Given the description of an element on the screen output the (x, y) to click on. 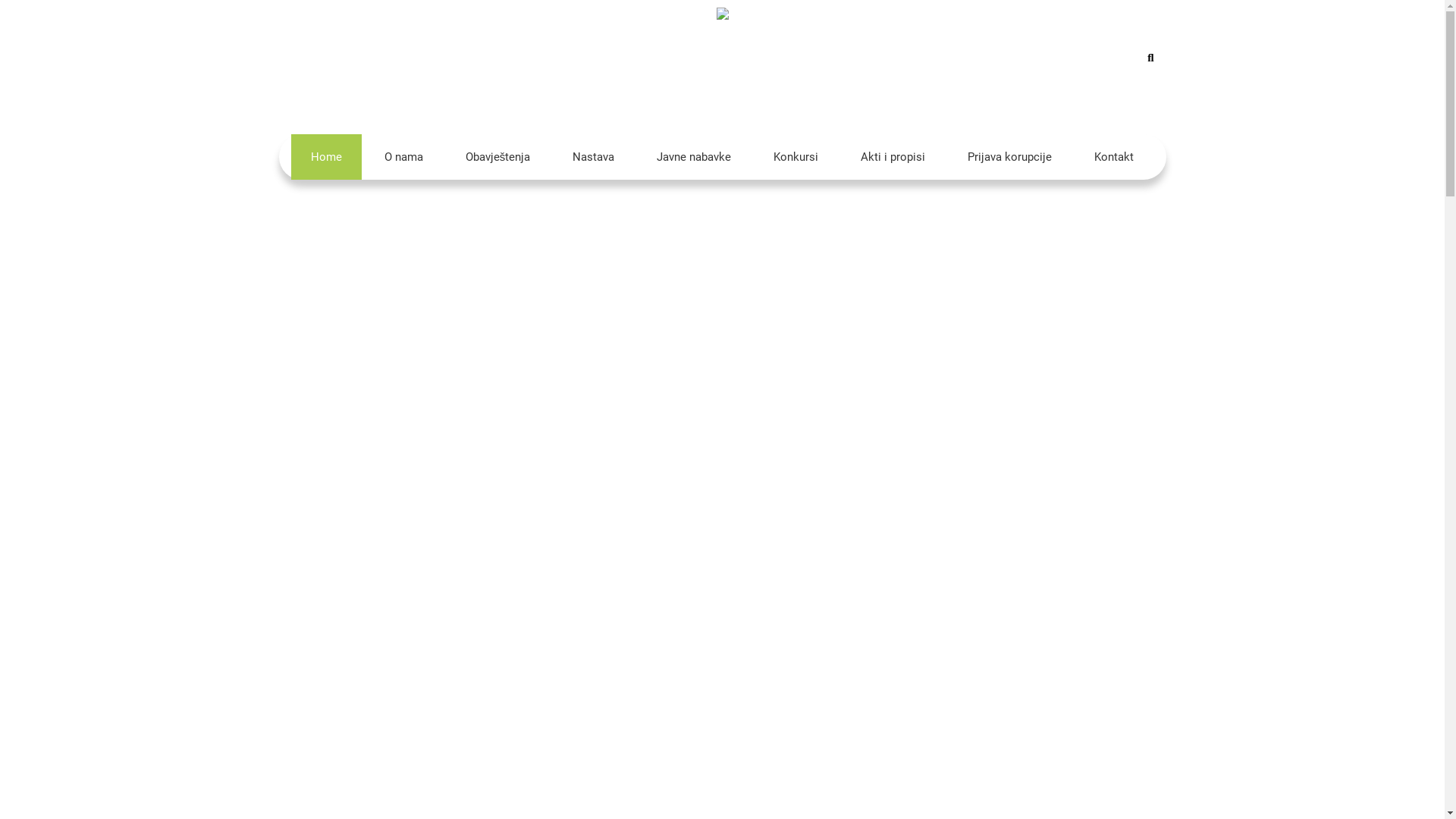
Konkursi Element type: text (795, 156)
Home Element type: text (326, 156)
Javne nabavke Element type: text (693, 156)
Prijava korupcije Element type: text (1009, 156)
Kontakt Element type: text (1113, 156)
O nama Element type: text (403, 156)
Nastava Element type: text (592, 156)
Akti i propisi Element type: text (892, 156)
